Given the description of an element on the screen output the (x, y) to click on. 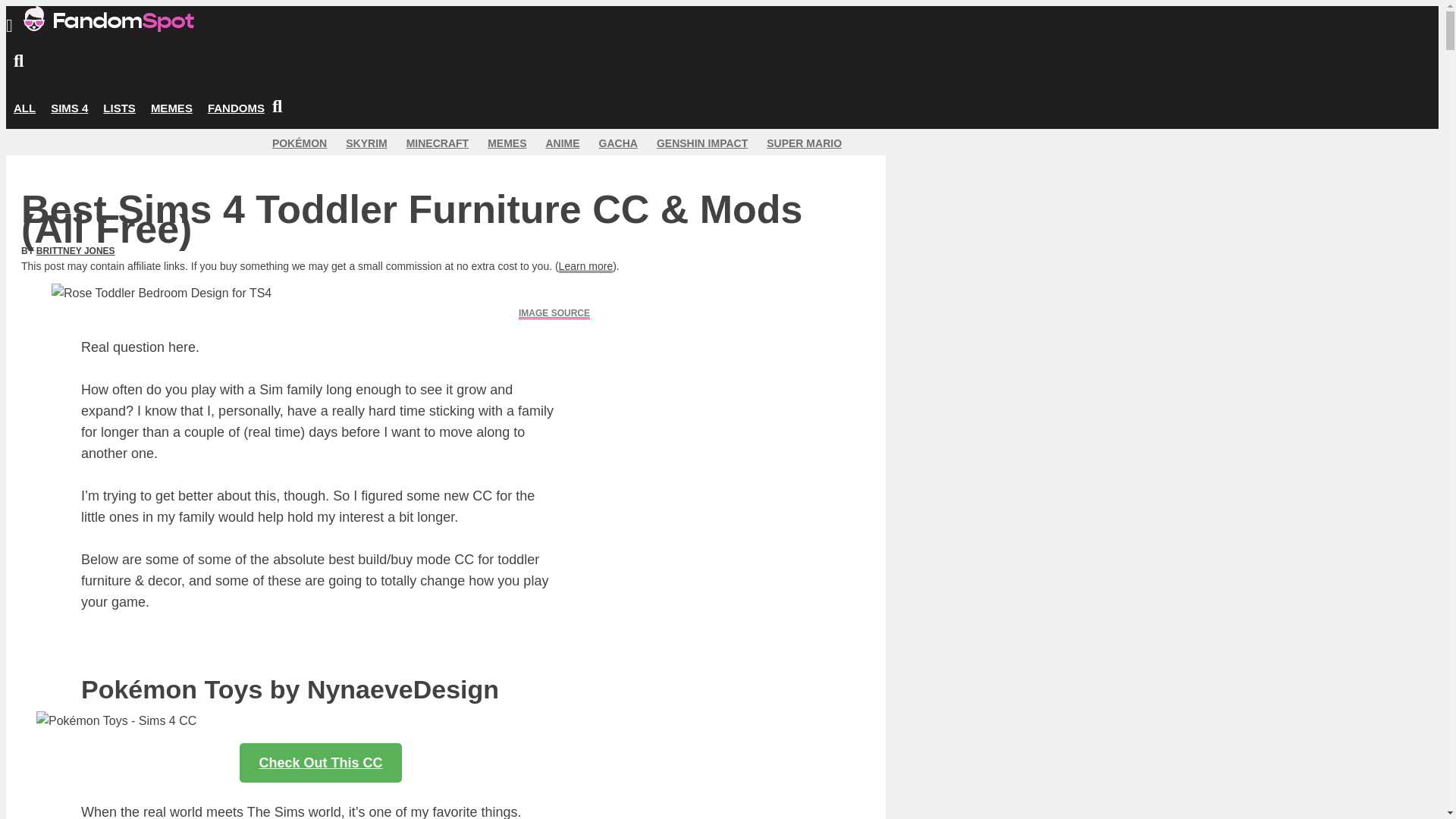
SIMS 4 (69, 108)
SKYRIM (366, 143)
Check Out This CC (320, 762)
FandomSpot (108, 18)
MEMES (506, 143)
BRITTNEY JONES (75, 250)
MEMES (171, 108)
IMAGE SOURCE (553, 313)
Learn more (585, 266)
LISTS (119, 108)
FandomSpot (108, 27)
MINECRAFT (437, 143)
SUPER MARIO (804, 143)
GENSHIN IMPACT (702, 143)
GACHA (617, 143)
